Given the description of an element on the screen output the (x, y) to click on. 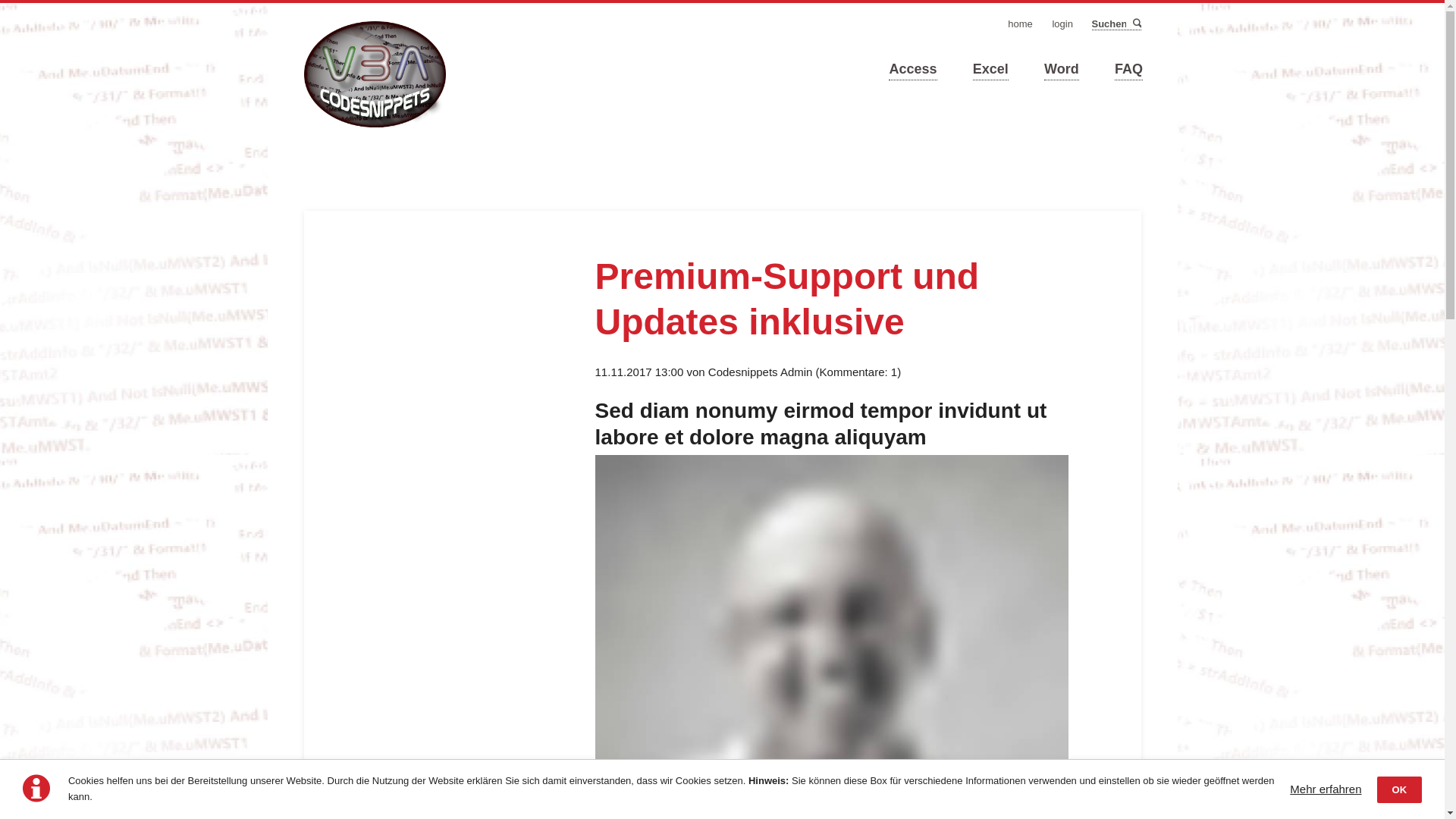
Access Element type: text (912, 69)
Mehr erfahren Element type: text (1325, 788)
Excel Element type: text (990, 69)
OK Element type: text (1399, 789)
Word Element type: text (1061, 69)
Suchen Element type: text (1136, 23)
home Element type: text (1020, 24)
login Element type: text (1062, 24)
FAQ Element type: text (1128, 69)
